Given the description of an element on the screen output the (x, y) to click on. 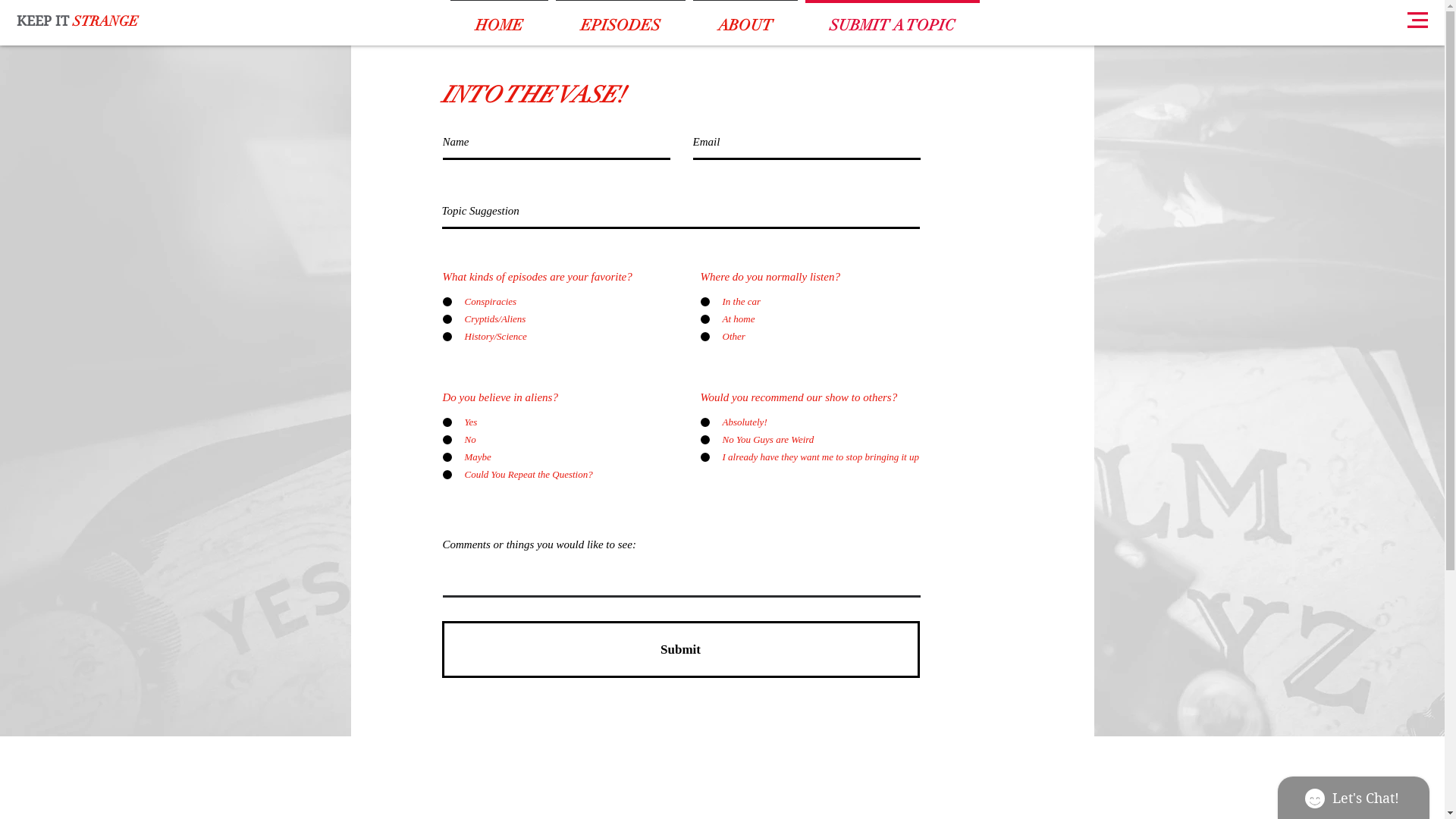
KEEP IT STRANGE Element type: text (77, 20)
ABOUT Element type: text (744, 18)
SUBMIT A TOPIC Element type: text (891, 18)
HOME Element type: text (498, 18)
EPISODES Element type: text (620, 18)
Submit Element type: text (680, 649)
